Given the description of an element on the screen output the (x, y) to click on. 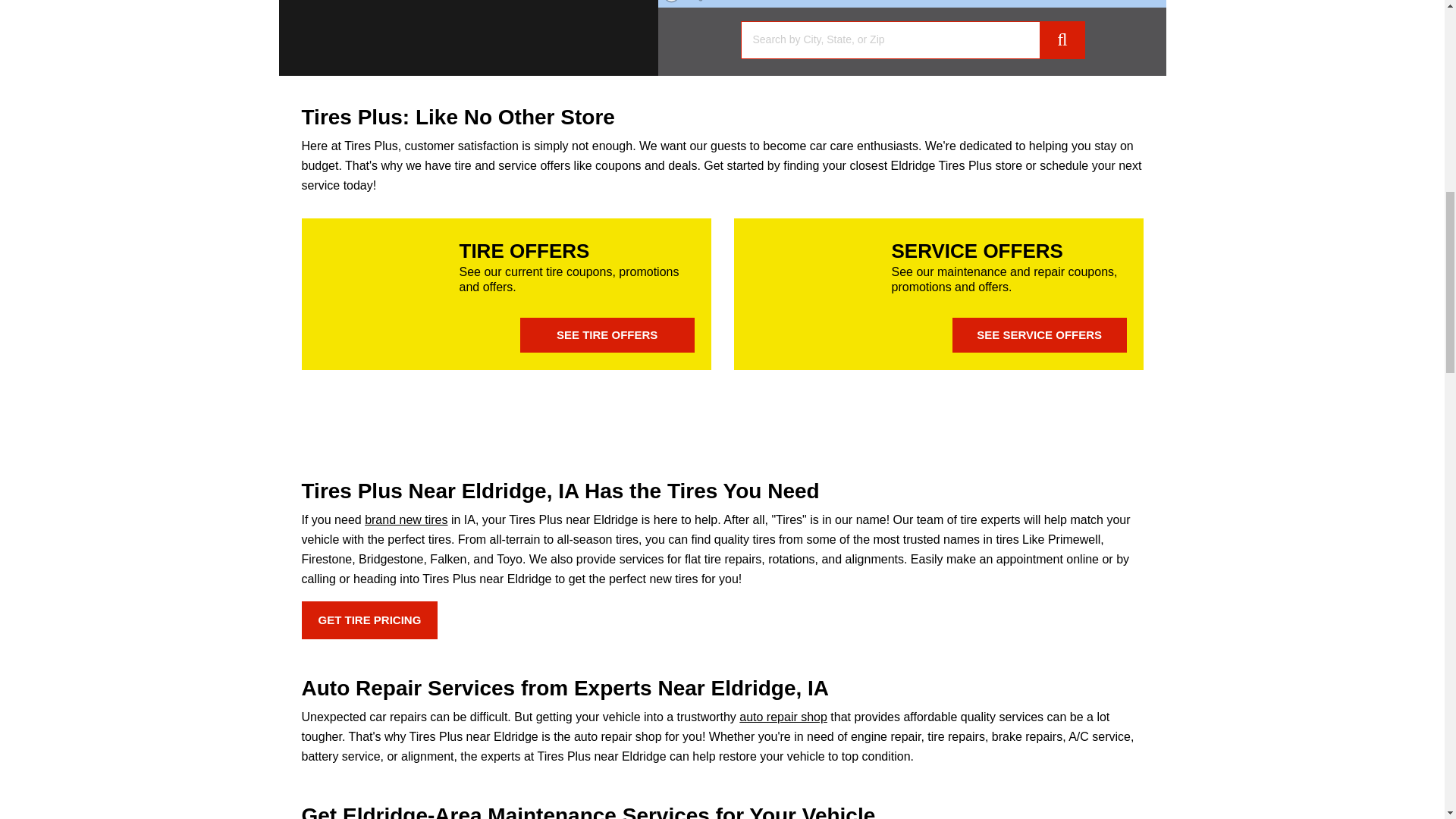
SEE TIRE OFFERS (606, 334)
SEE SERVICE OFFERS (1039, 334)
GO (1061, 39)
brand new tires (405, 519)
